Given the description of an element on the screen output the (x, y) to click on. 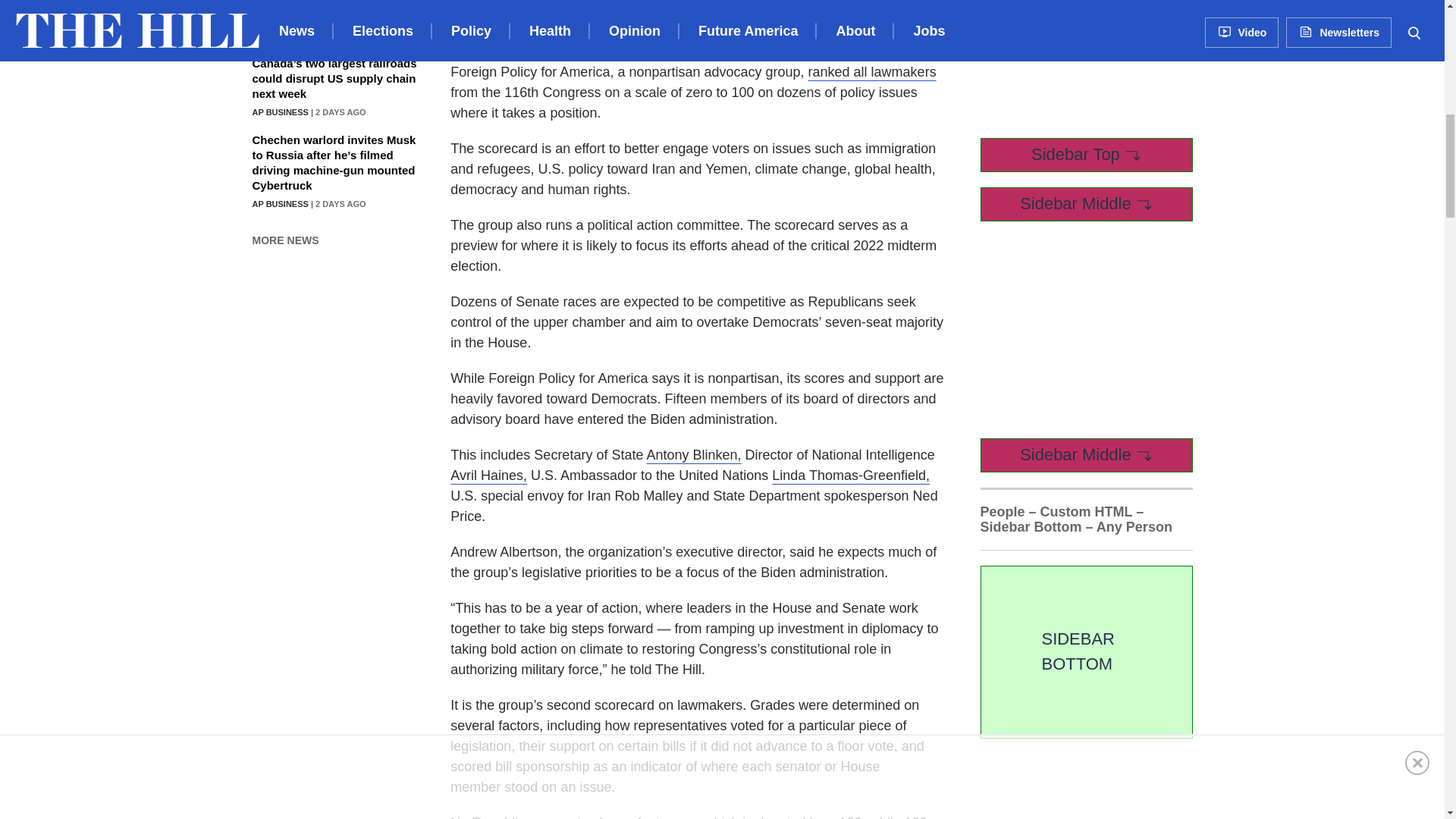
3rd party ad content (1093, 330)
3rd party ad content (1093, 786)
3rd party ad content (1093, 63)
